Given the description of an element on the screen output the (x, y) to click on. 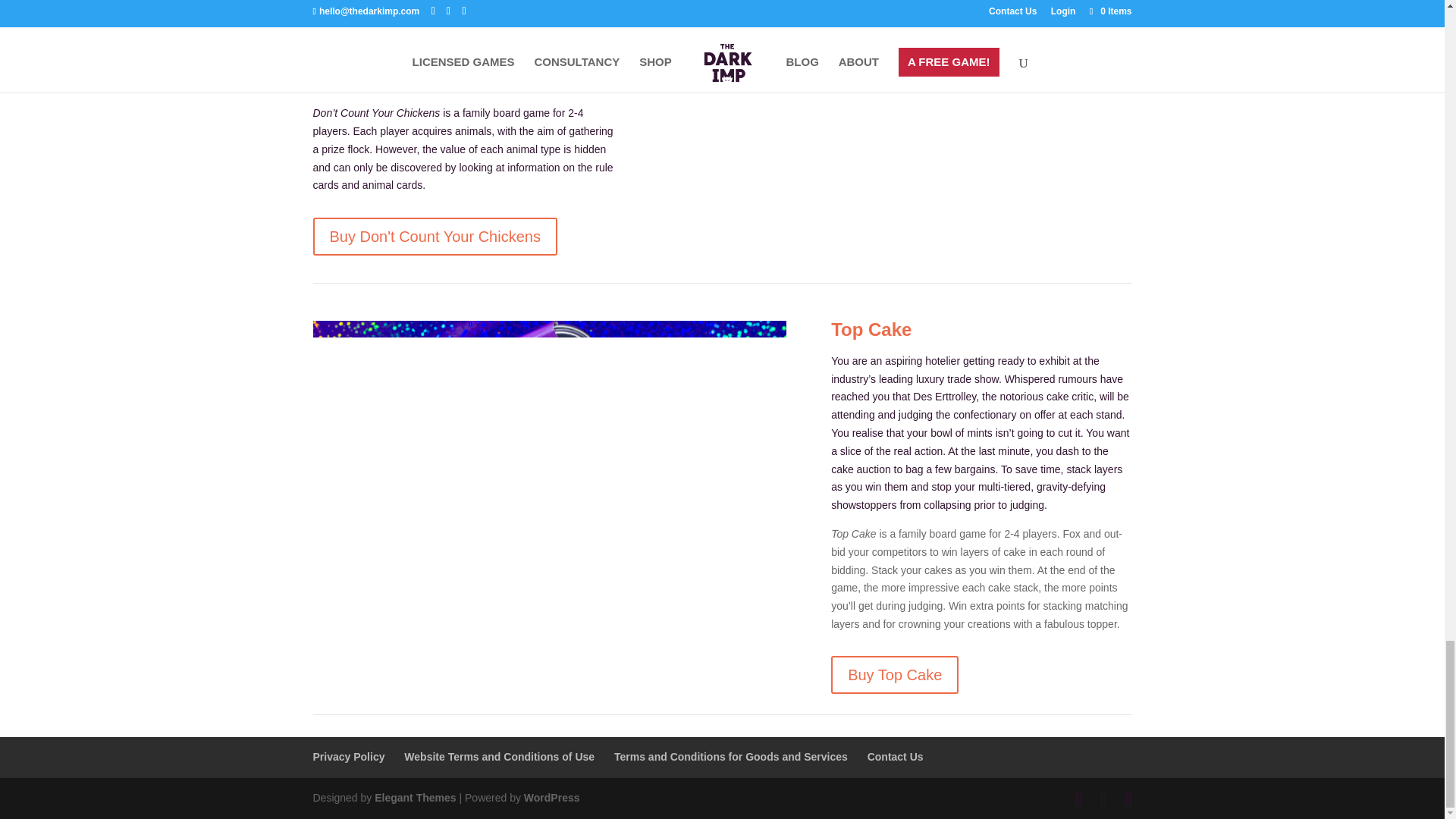
Buy Don't Count Your Chickens (434, 236)
Contact Us (895, 756)
Privacy Policy (348, 756)
Buy Top Cake (894, 674)
Premium WordPress Themes (414, 797)
Website Terms and Conditions of Use (499, 756)
Terms and Conditions for Goods and Services (730, 756)
